Given the description of an element on the screen output the (x, y) to click on. 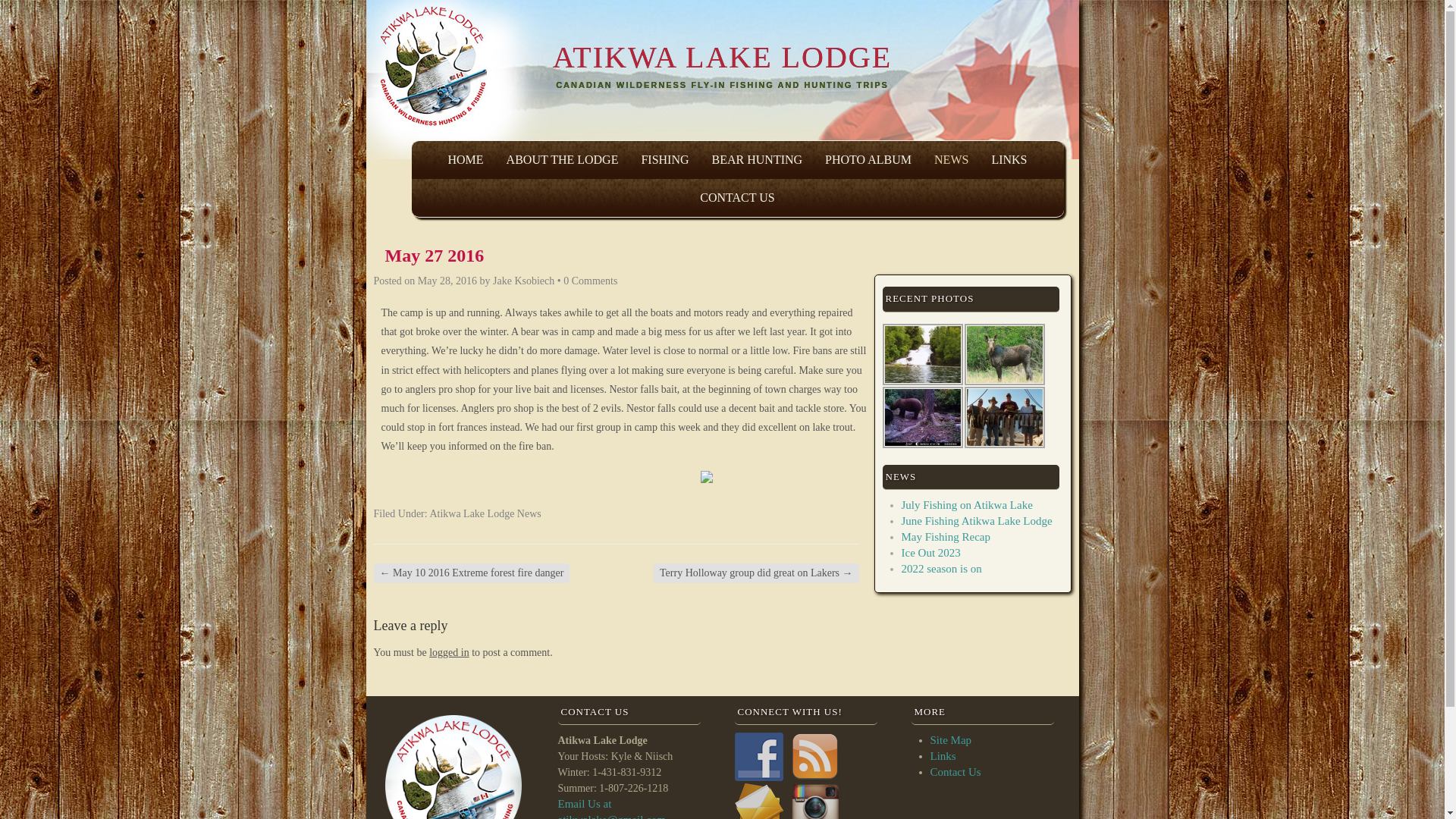
July Fishing on Atikwa Lake (966, 504)
mdgc0111 (922, 416)
Ice Out 2023 (930, 552)
2022 season is on (941, 568)
BEAR HUNTING (756, 159)
CONTACT US (737, 198)
PHOTO ALBUM (868, 159)
May Fishing Recap (945, 536)
mooseinwoods (1004, 353)
stringer-at-dock (1004, 416)
Site Map (950, 739)
ABOUT THE LODGE (562, 159)
Follow Us on E-mail (758, 800)
HOME (465, 159)
View all posts by Jake Ksobiech (523, 280)
